Given the description of an element on the screen output the (x, y) to click on. 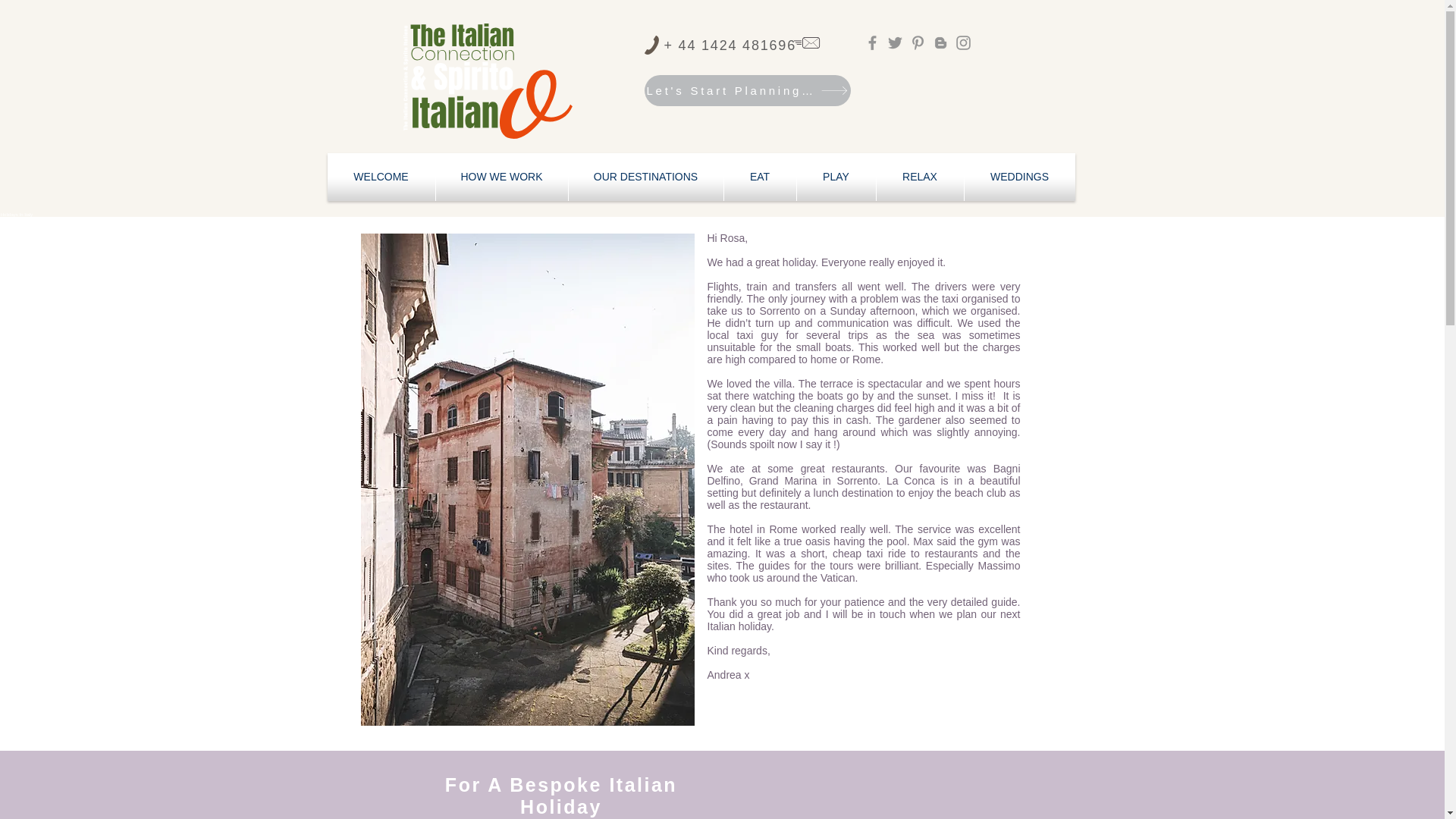
RELAX (919, 176)
OUR DESTINATIONS (646, 176)
EAT (758, 176)
WEDDINGS (1019, 176)
WELCOME (381, 176)
Let's Start Planning Your Bespoke Holiday (747, 90)
PLAY (835, 176)
HOW WE WORK (501, 176)
